Given the description of an element on the screen output the (x, y) to click on. 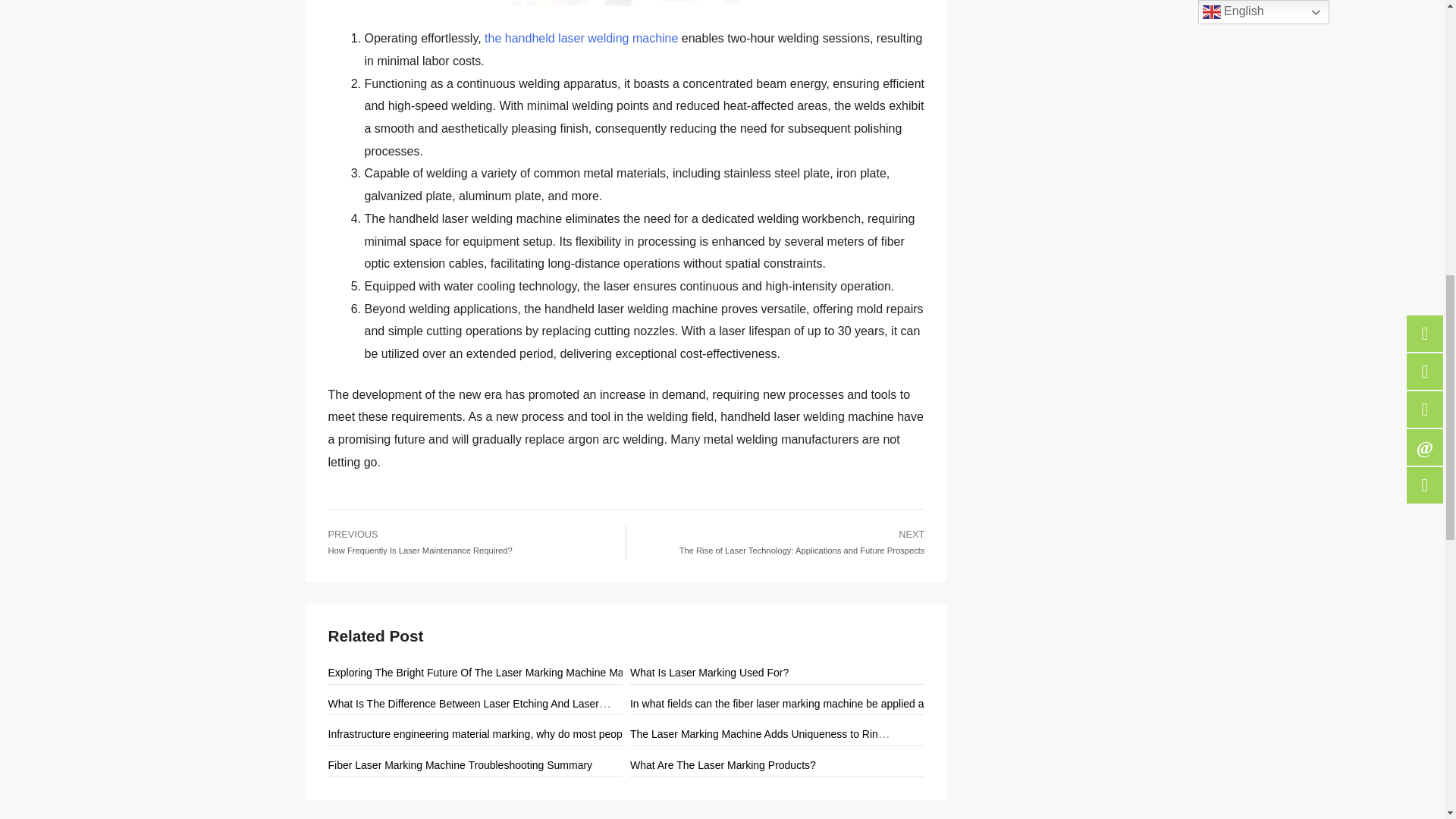
What Is Laser Marking Used For? (709, 672)
Fiber Laser Marking Machine Troubleshooting Summary (459, 765)
The Laser Marking Machine Adds Uniqueness to Ring Jewelry (776, 733)
What Are The Laser Marking Products? (722, 765)
